Given the description of an element on the screen output the (x, y) to click on. 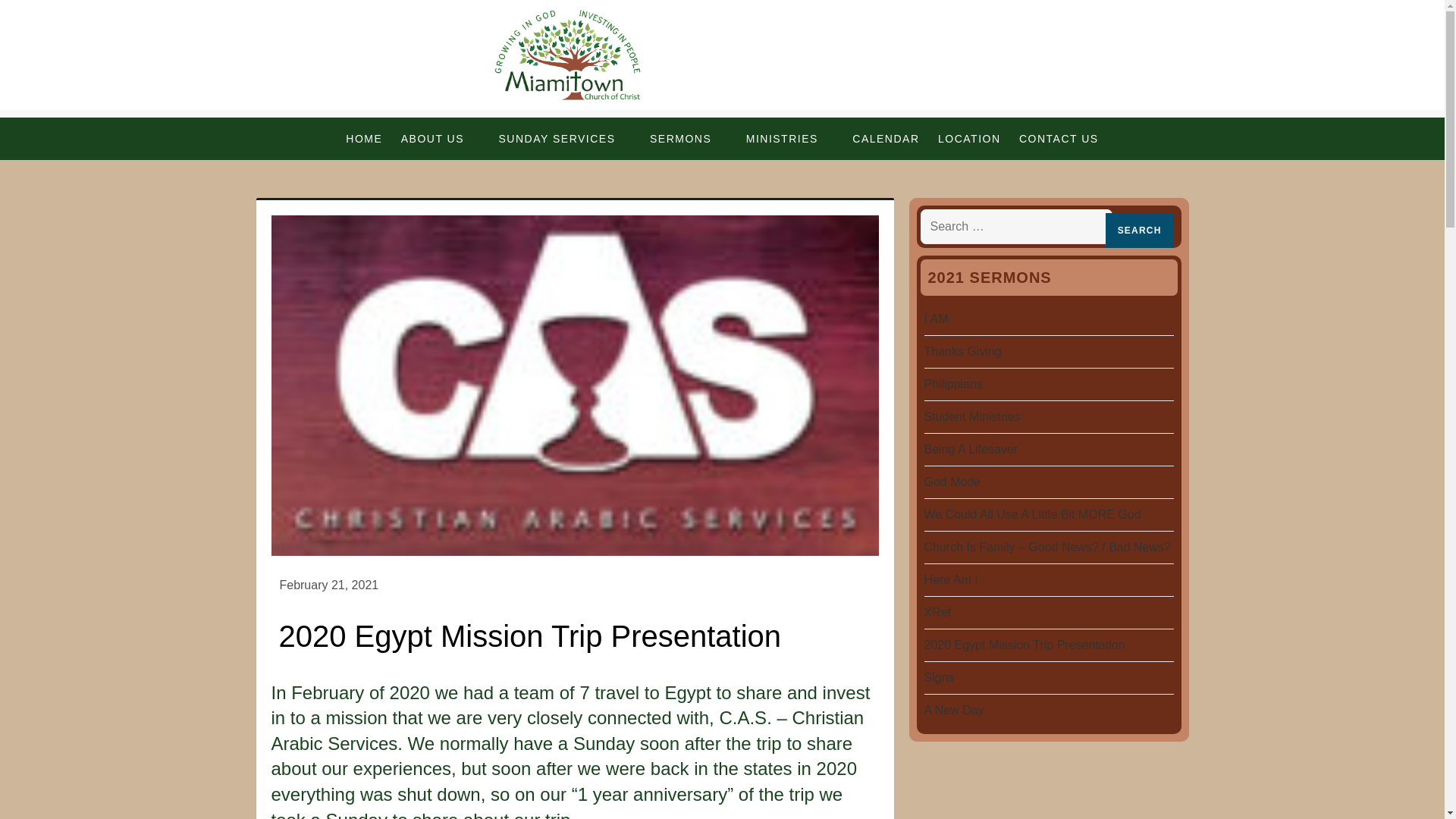
SUNDAY SERVICES (565, 138)
Miamitown Church of Christ (442, 120)
ABOUT US (440, 138)
Ministries and Ministry Opportunities (789, 138)
SERMONS (688, 138)
HOME (363, 138)
Search (1139, 230)
Search (1139, 230)
